Given the description of an element on the screen output the (x, y) to click on. 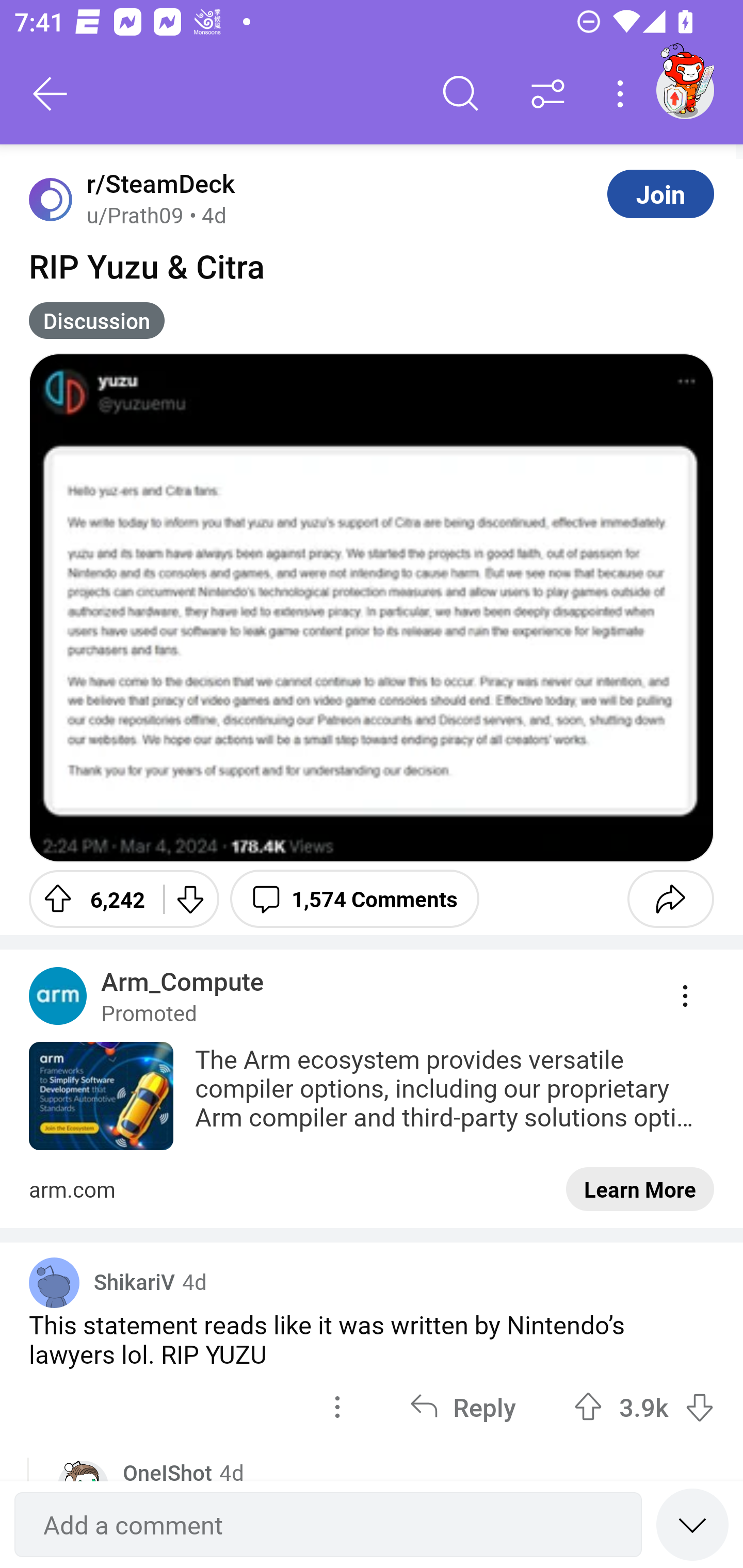
Back (50, 93)
TestAppium002 account (685, 90)
Search comments (460, 93)
Sort comments (547, 93)
More options (623, 93)
r/SteamDeck (157, 183)
Join (660, 193)
Avatar (50, 199)
Discussion (96, 320)
Image (371, 607)
Upvote 6,242 (88, 898)
Downvote (189, 898)
1,574 Comments (354, 898)
Share (670, 898)
Avatar (53, 1282)
options (337, 1406)
Reply (462, 1406)
Upvote 3.9k 3906 votes Downvote (643, 1406)
Speed read (692, 1524)
Add a comment (327, 1524)
